Given the description of an element on the screen output the (x, y) to click on. 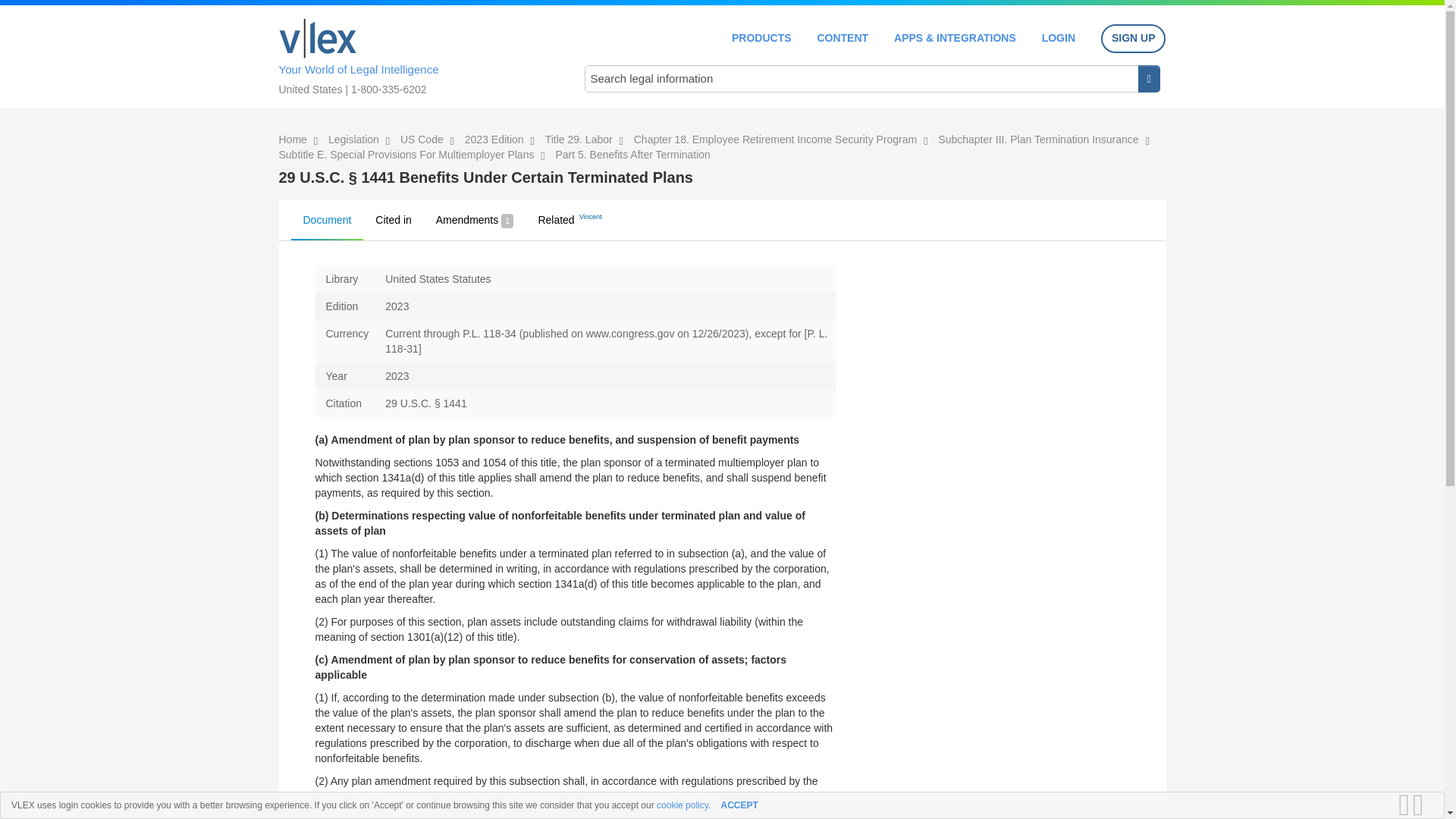
Title 29. Labor (579, 139)
cookie policy (681, 805)
Home (317, 38)
SIGN UP (1133, 38)
Subtitle E. Special Provisions For Multiemployer Plans (408, 154)
PRODUCTS (762, 37)
Subchapter III. Plan Termination Insurance (1039, 139)
ACCEPT (739, 805)
Chapter 18. Employee Retirement Income Security Program (776, 139)
Legislation (355, 139)
